Given the description of an element on the screen output the (x, y) to click on. 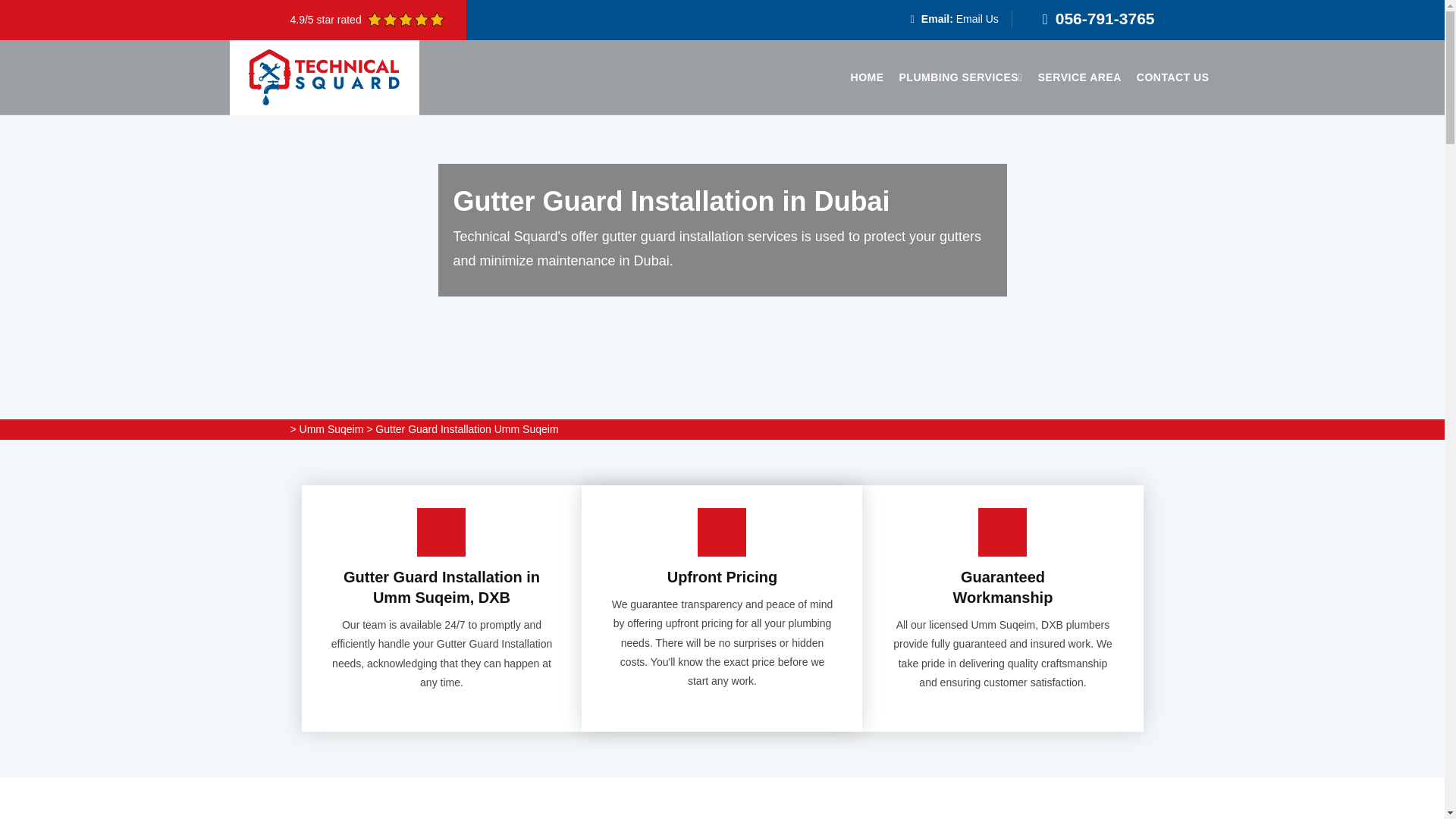
056-791-3765 (1104, 18)
Email Us (977, 19)
HOME (866, 77)
PLUMBING SERVICES (961, 77)
